Given the description of an element on the screen output the (x, y) to click on. 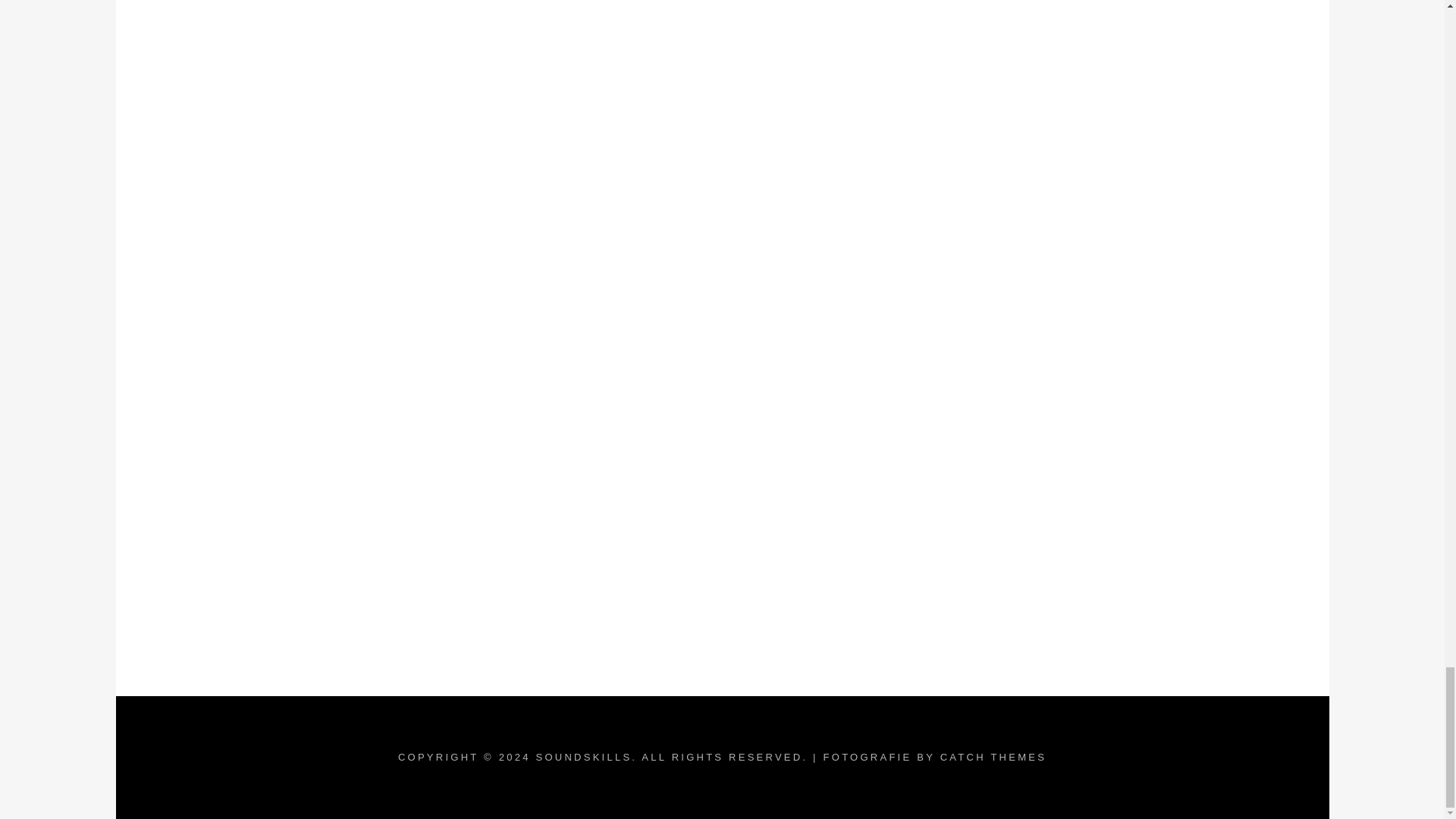
CATCH THEMES (993, 756)
SOUNDSKILLS (583, 756)
